Given the description of an element on the screen output the (x, y) to click on. 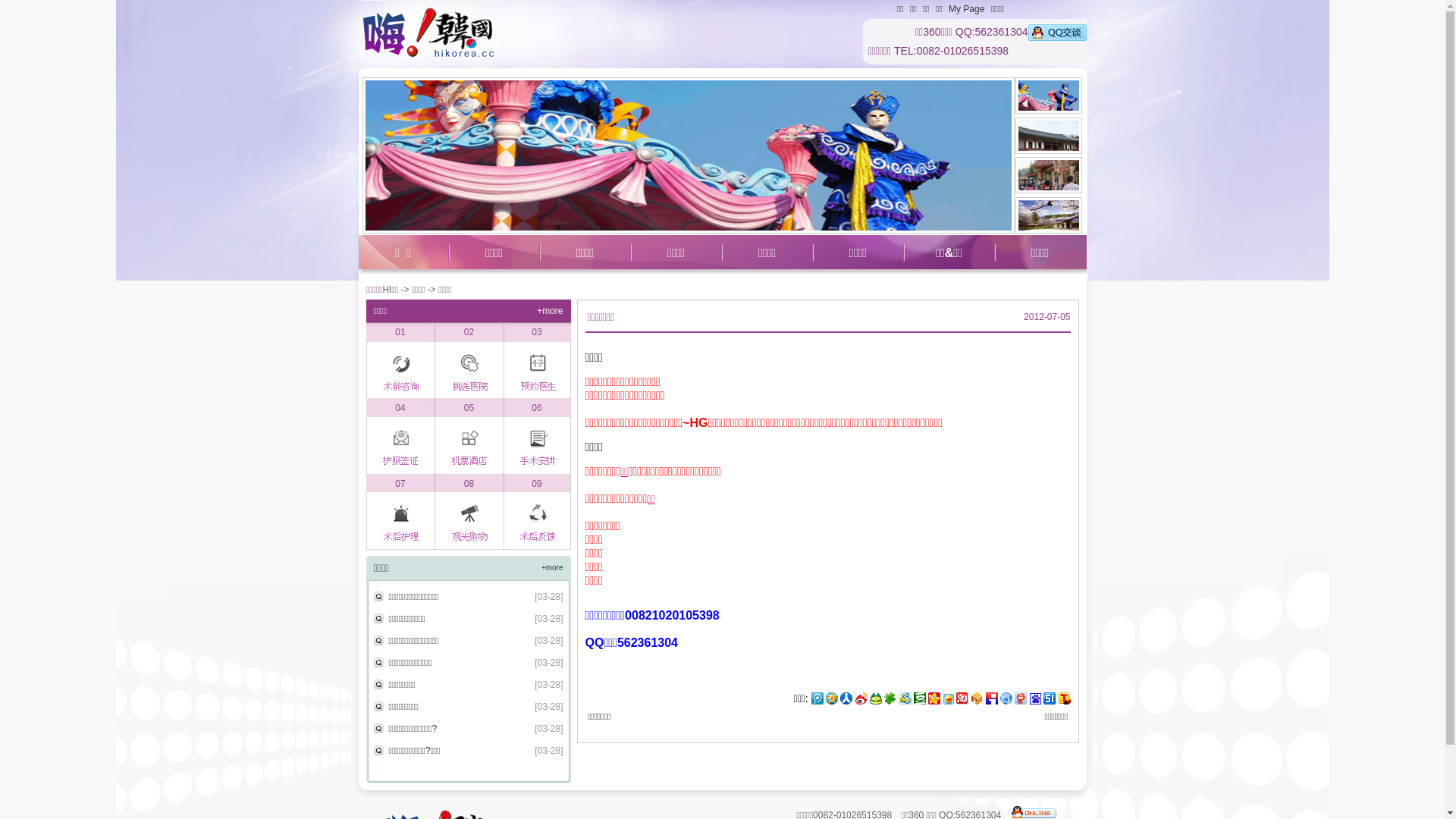
+more Element type: text (552, 567)
My Page Element type: text (966, 8)
+more Element type: text (549, 310)
